Given the description of an element on the screen output the (x, y) to click on. 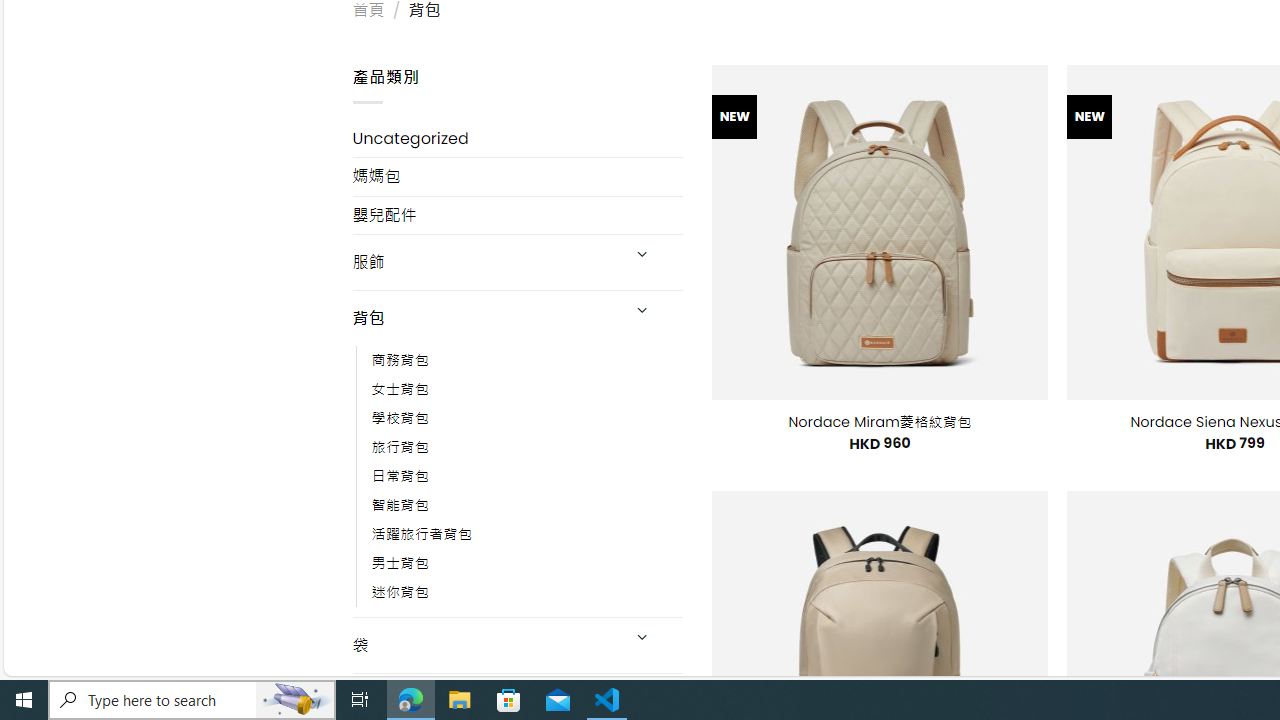
Uncategorized (517, 137)
